Given the description of an element on the screen output the (x, y) to click on. 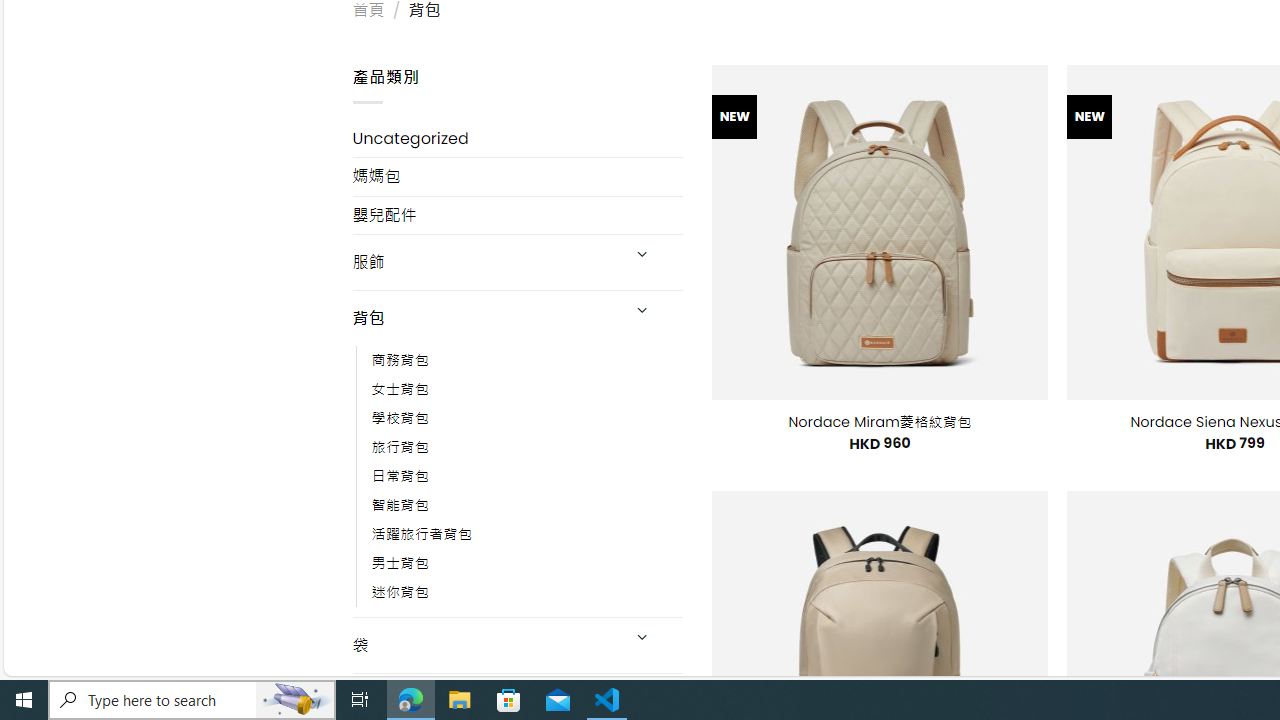
Uncategorized (517, 137)
